Given the description of an element on the screen output the (x, y) to click on. 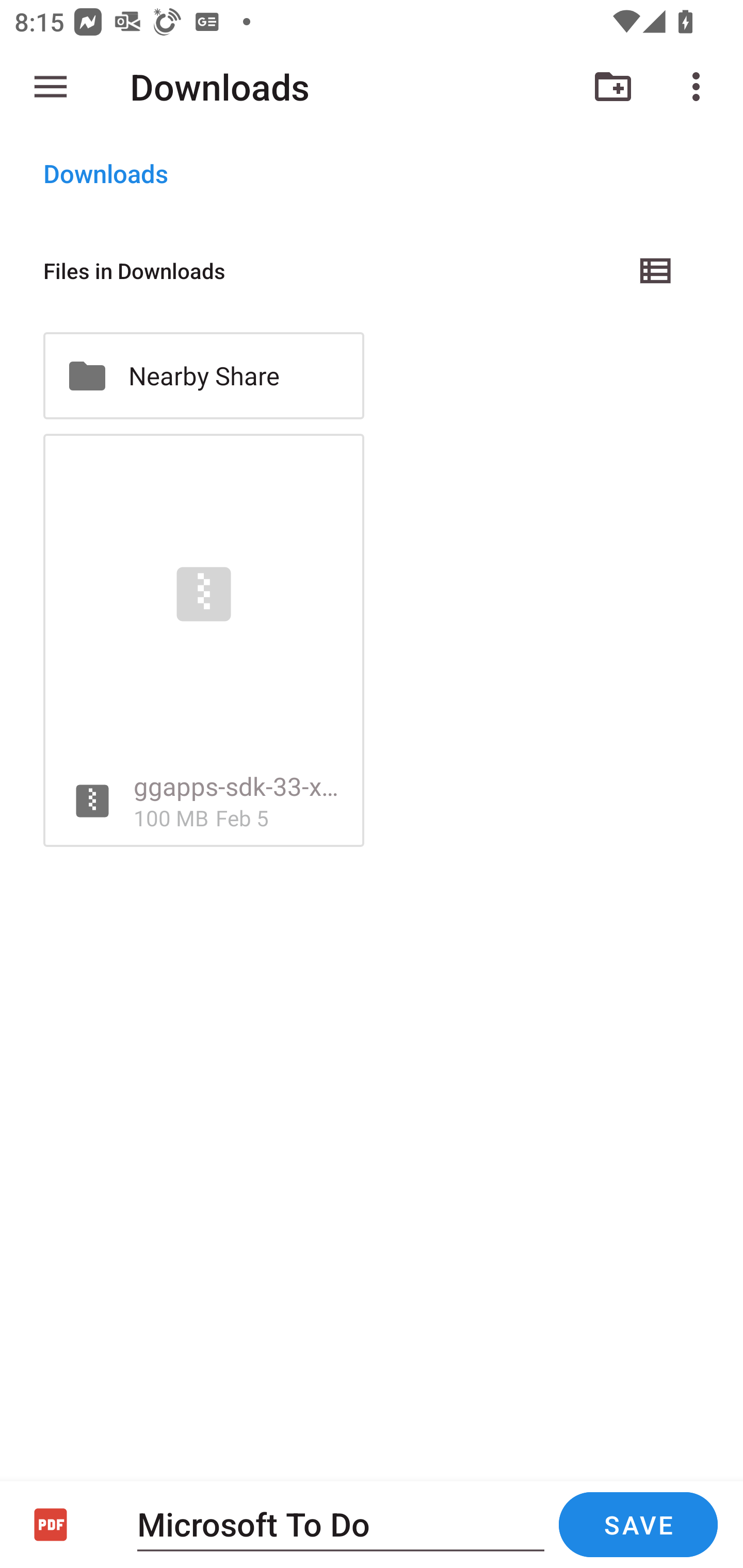
Show roots (50, 86)
New folder (612, 86)
More options (699, 86)
List view (655, 270)
Nearby Share (203, 375)
ggapps-sdk-33-x86_64-20231003.zip 100 MB Feb 5 (203, 640)
SAVE (637, 1524)
Microsoft To Do (340, 1523)
